Given the description of an element on the screen output the (x, y) to click on. 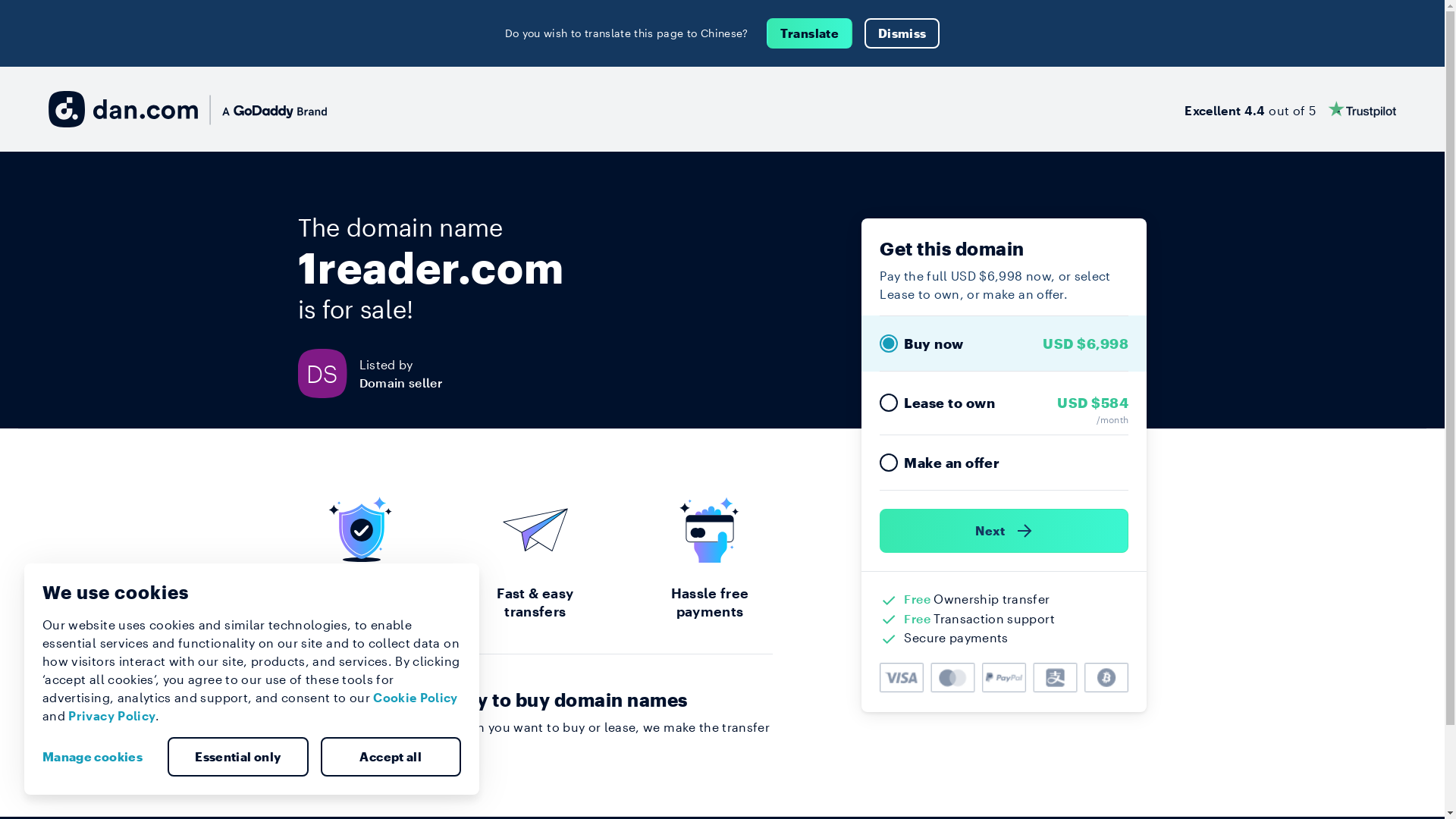
Essential only Element type: text (237, 756)
Translate Element type: text (809, 33)
Privacy Policy Element type: text (111, 715)
Cookie Policy Element type: text (415, 697)
Excellent 4.4 out of 5 Element type: text (1290, 109)
Accept all Element type: text (390, 756)
Manage cookies Element type: text (98, 756)
Dismiss Element type: text (901, 33)
Next
) Element type: text (1003, 530)
